Given the description of an element on the screen output the (x, y) to click on. 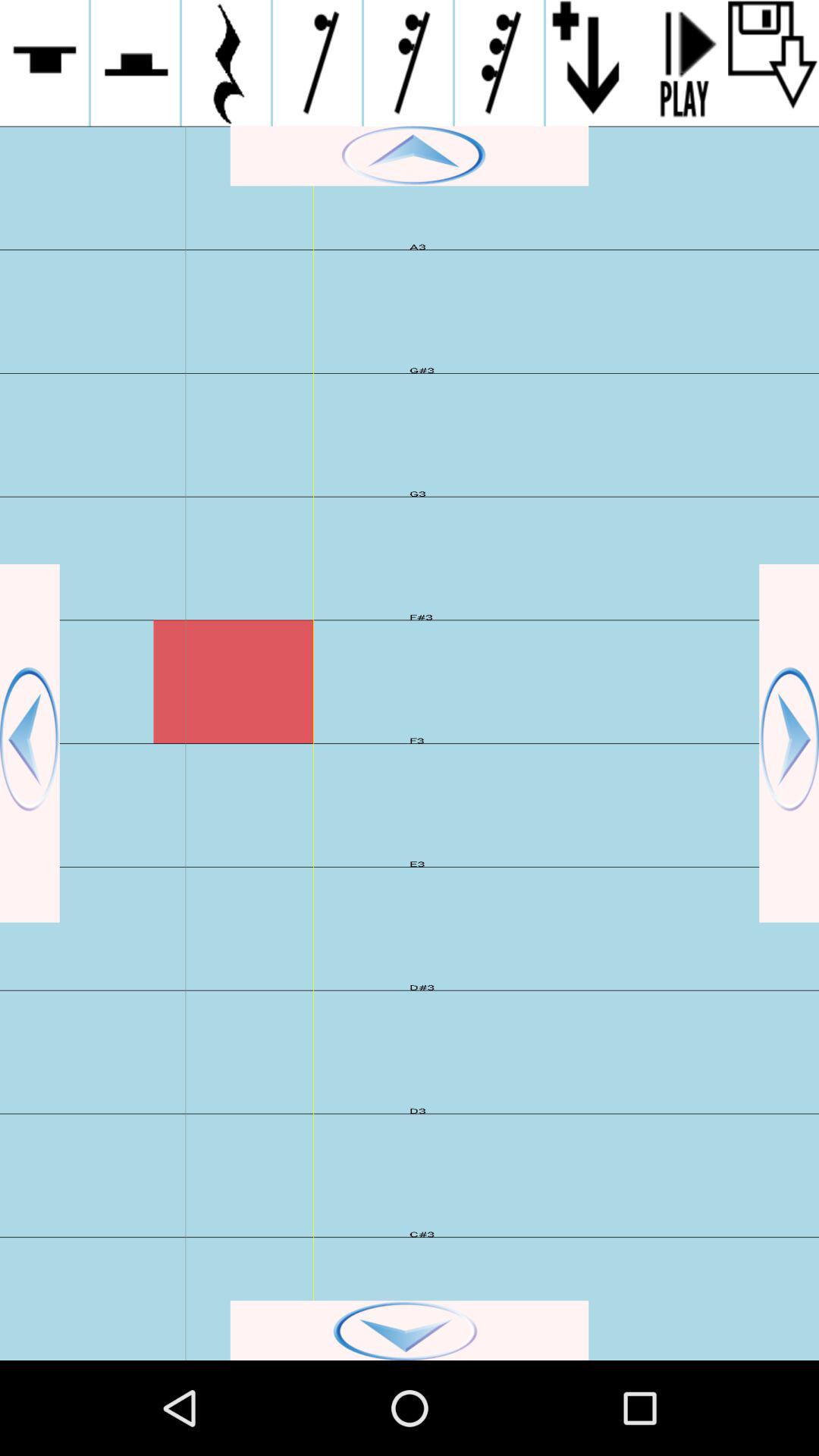
play (682, 63)
